Given the description of an element on the screen output the (x, y) to click on. 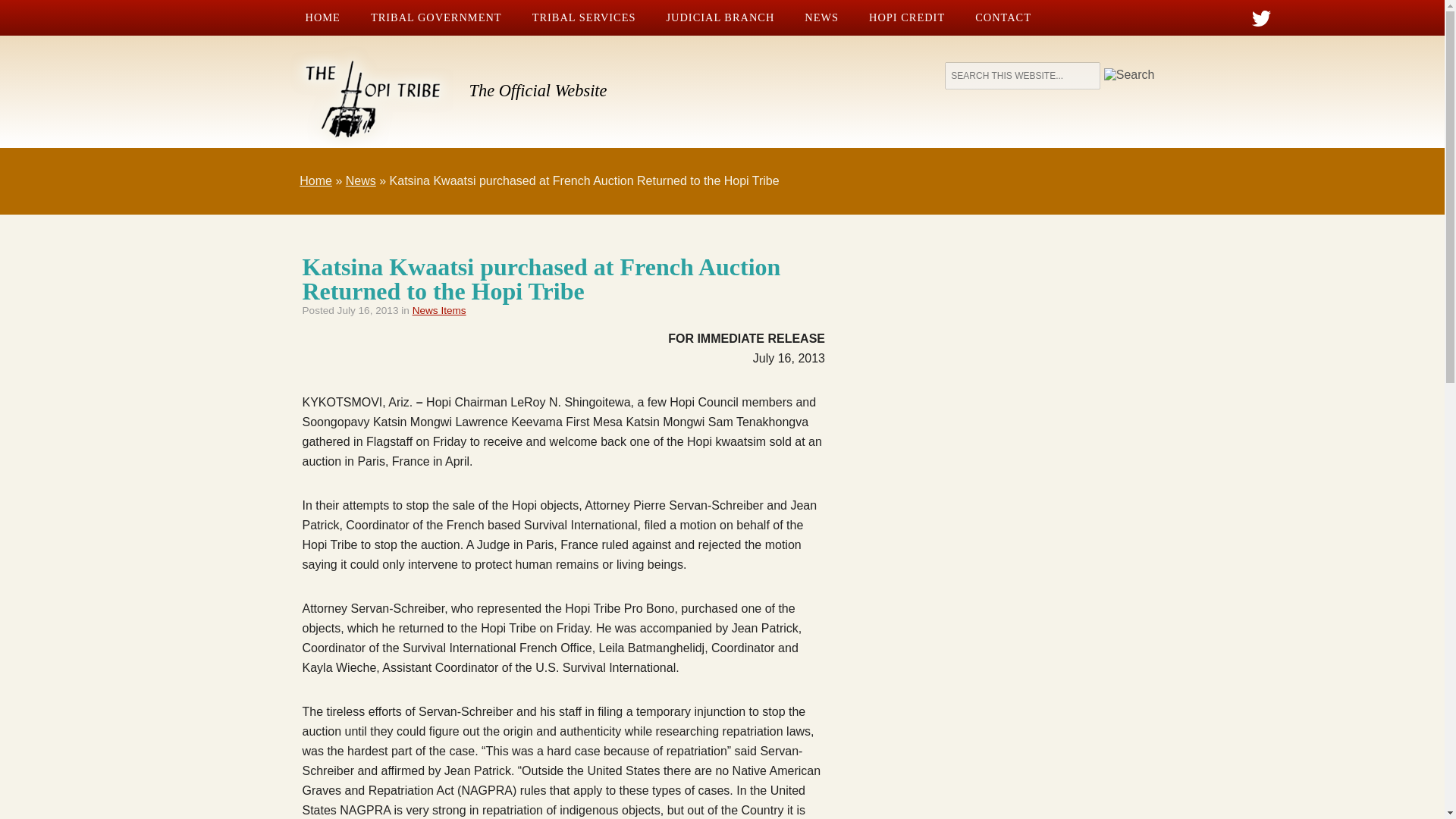
Hope Tribe Twitter link (1261, 18)
TRIBAL SERVICES (583, 18)
HOME (322, 18)
TRIBAL GOVERNMENT (435, 18)
Search (1128, 74)
